Given the description of an element on the screen output the (x, y) to click on. 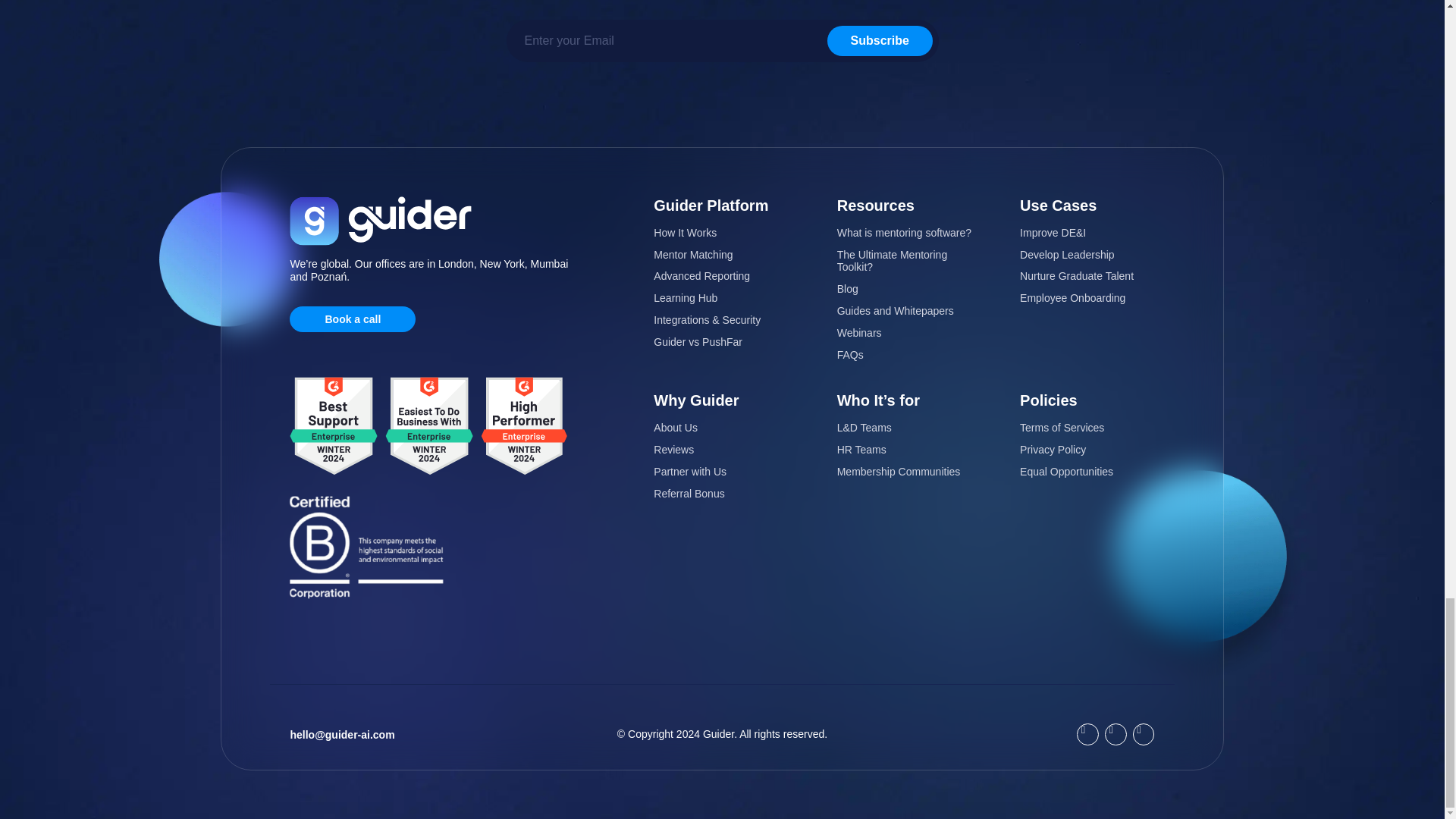
Book a call (351, 319)
Mentor Matching (720, 254)
Learning Hub (720, 297)
Subscribe (880, 40)
Advanced Reporting (720, 276)
How It Works (720, 232)
